Given the description of an element on the screen output the (x, y) to click on. 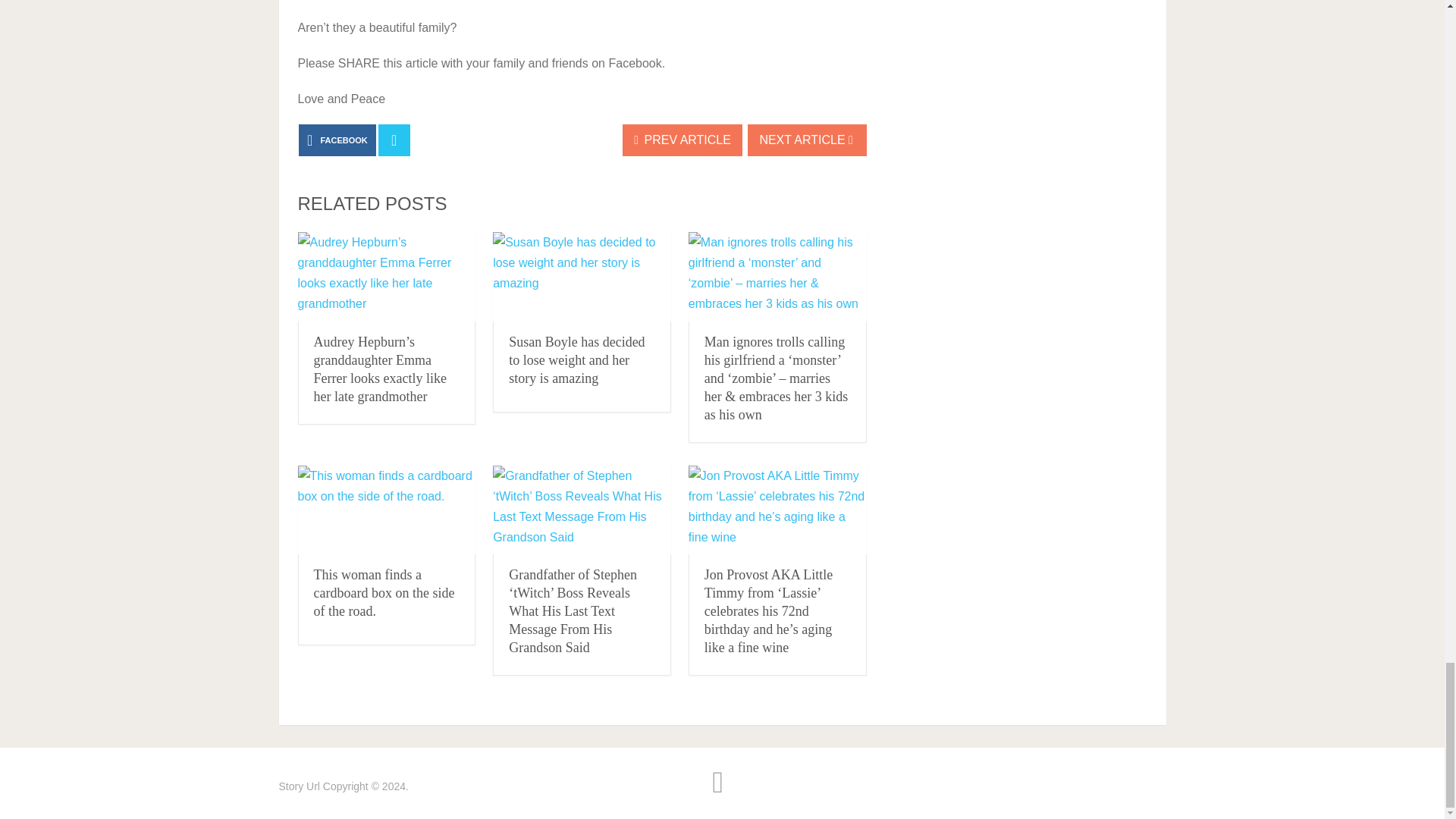
This woman finds a cardboard box on the side of the road. (384, 593)
FACEBOOK (336, 140)
This woman finds a cardboard box on the side of the road. (386, 510)
NEXT ARTICLE (807, 140)
PREV ARTICLE (682, 140)
Story Url (299, 786)
This woman finds a cardboard box on the side of the road. (384, 593)
